Given the description of an element on the screen output the (x, y) to click on. 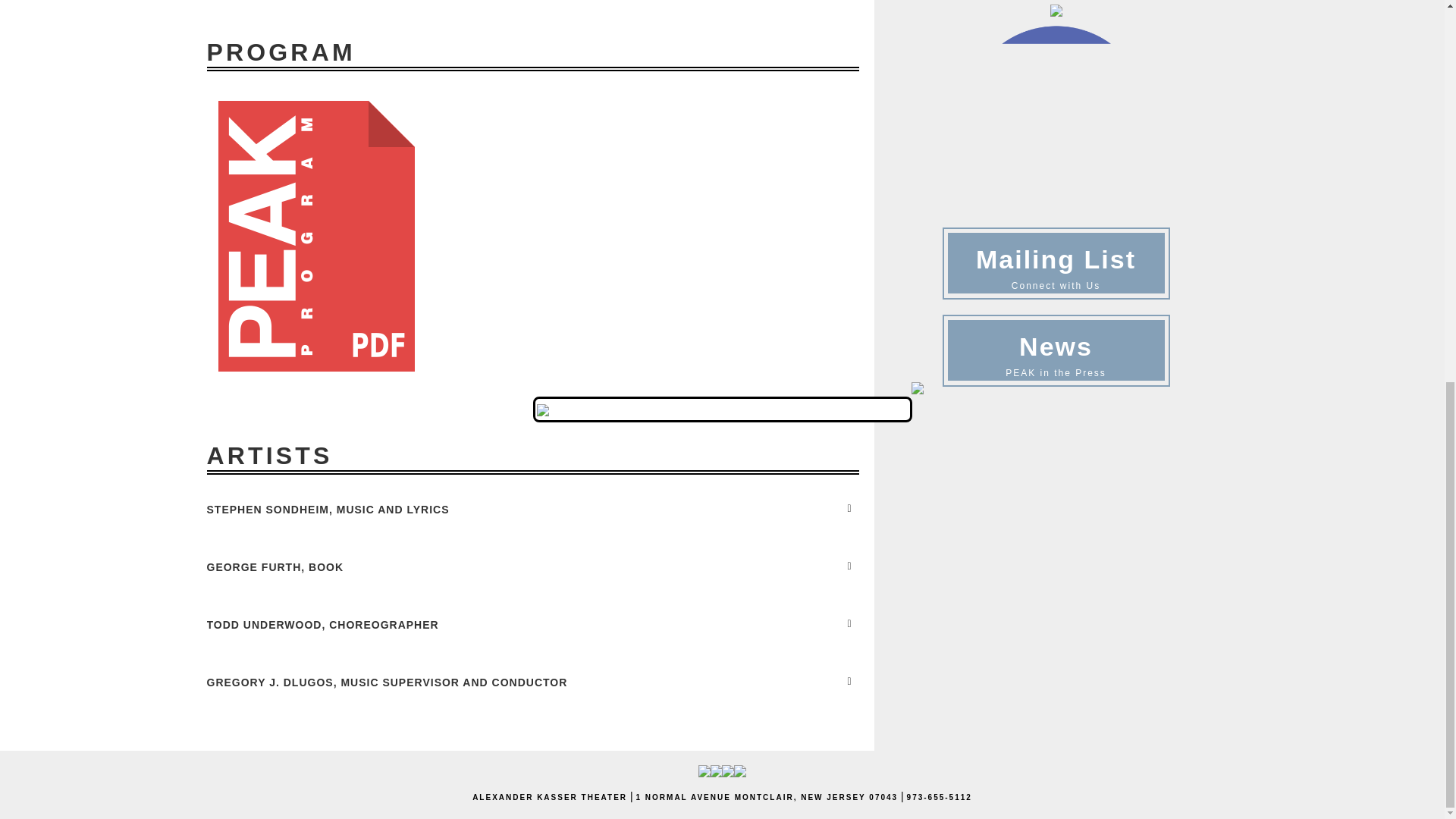
GREGORY J. DLUGOS, MUSIC SUPERVISOR AND CONDUCTOR (532, 681)
STEPHEN SONDHEIM, MUSIC AND LYRICS (532, 509)
TODD UNDERWOOD, CHOREOGRAPHER (532, 624)
GEORGE FURTH, BOOK (532, 567)
